Given the description of an element on the screen output the (x, y) to click on. 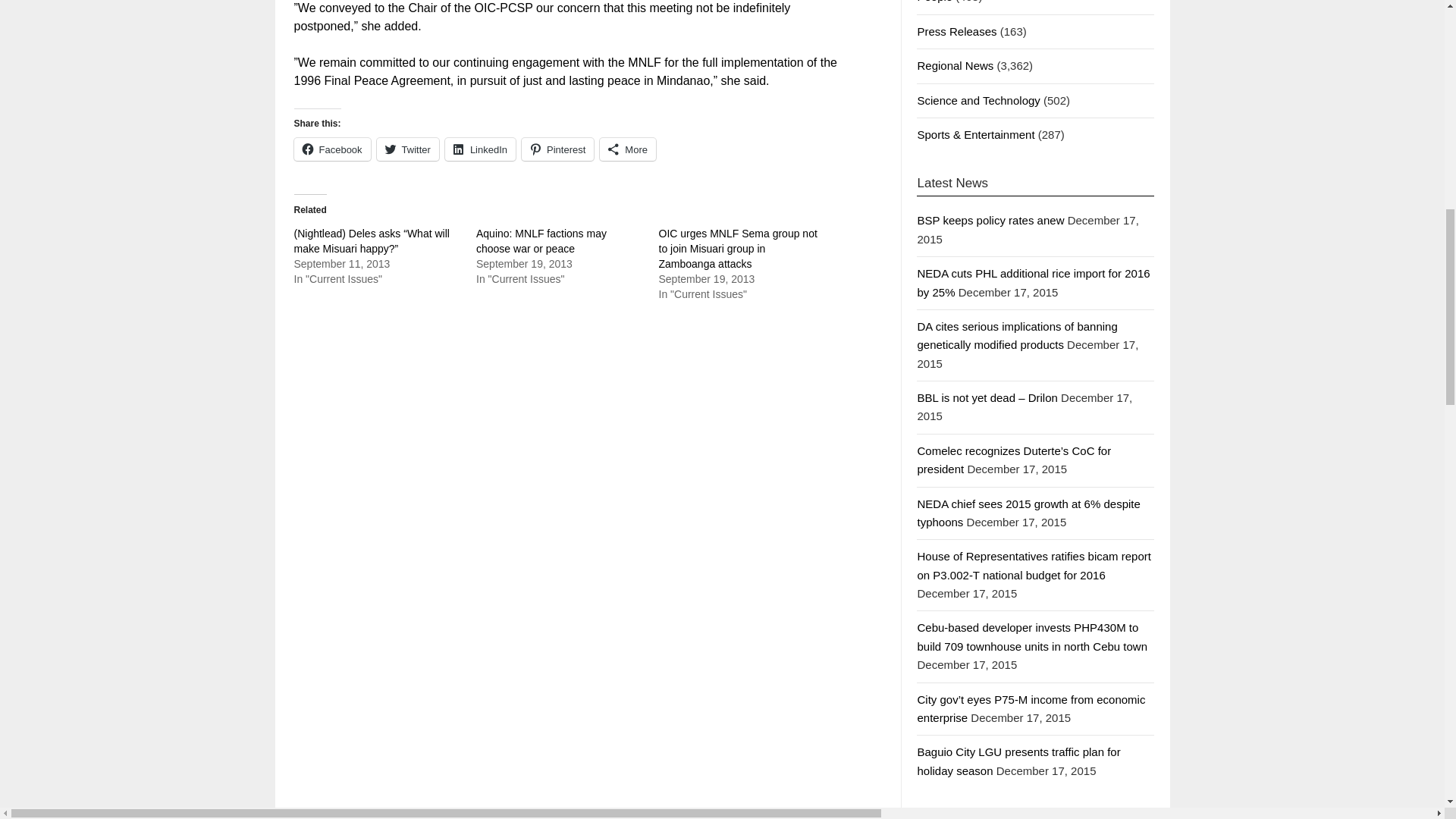
People (934, 1)
Pinterest (557, 149)
Click to share on LinkedIn (480, 149)
Click to share on Pinterest (557, 149)
Facebook (332, 149)
Press Releases (956, 31)
Regional News (954, 65)
Click to share on Twitter (408, 149)
More (627, 149)
